Given the description of an element on the screen output the (x, y) to click on. 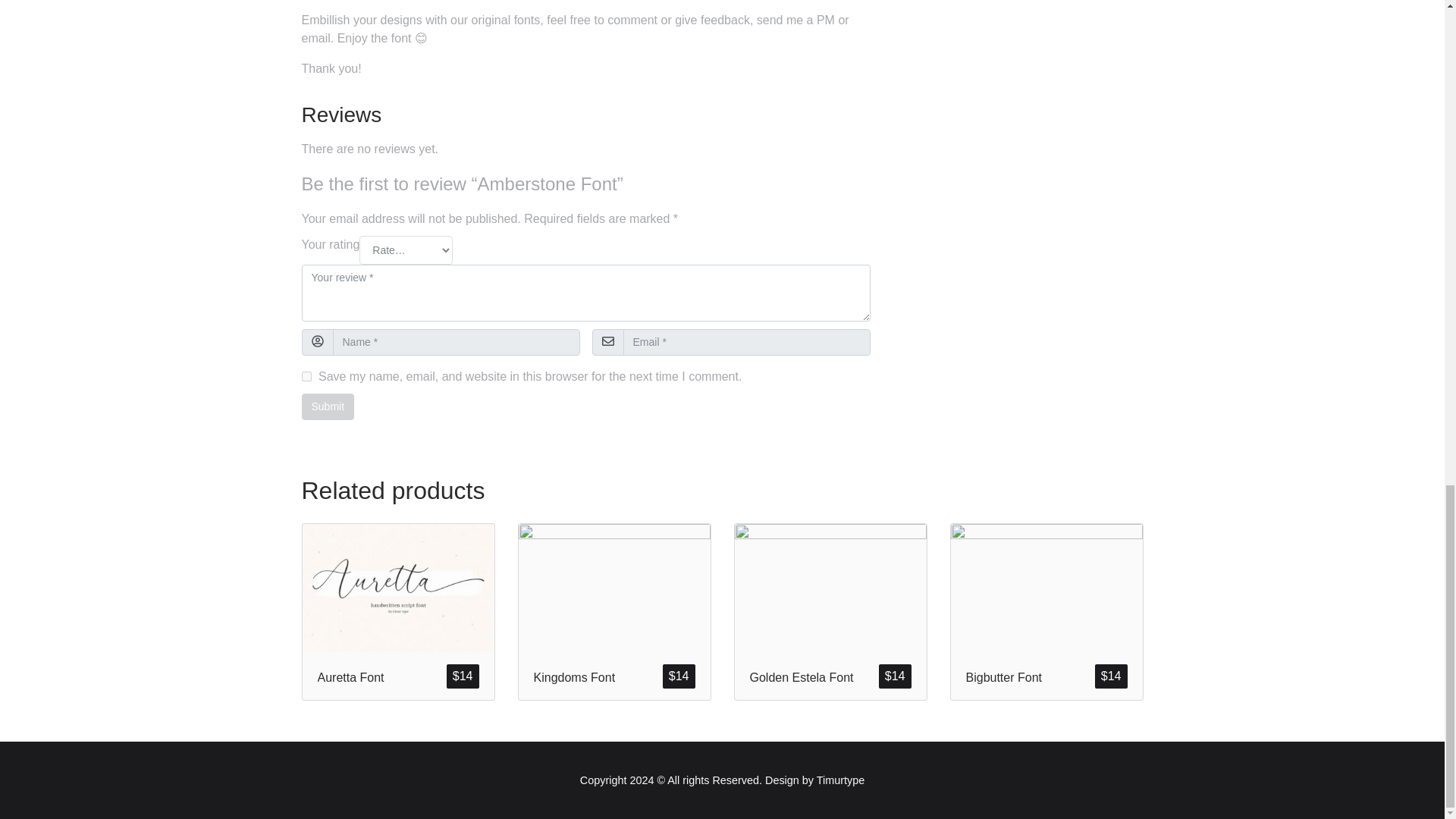
Submit (328, 406)
Submit (328, 406)
yes (306, 376)
